Given the description of an element on the screen output the (x, y) to click on. 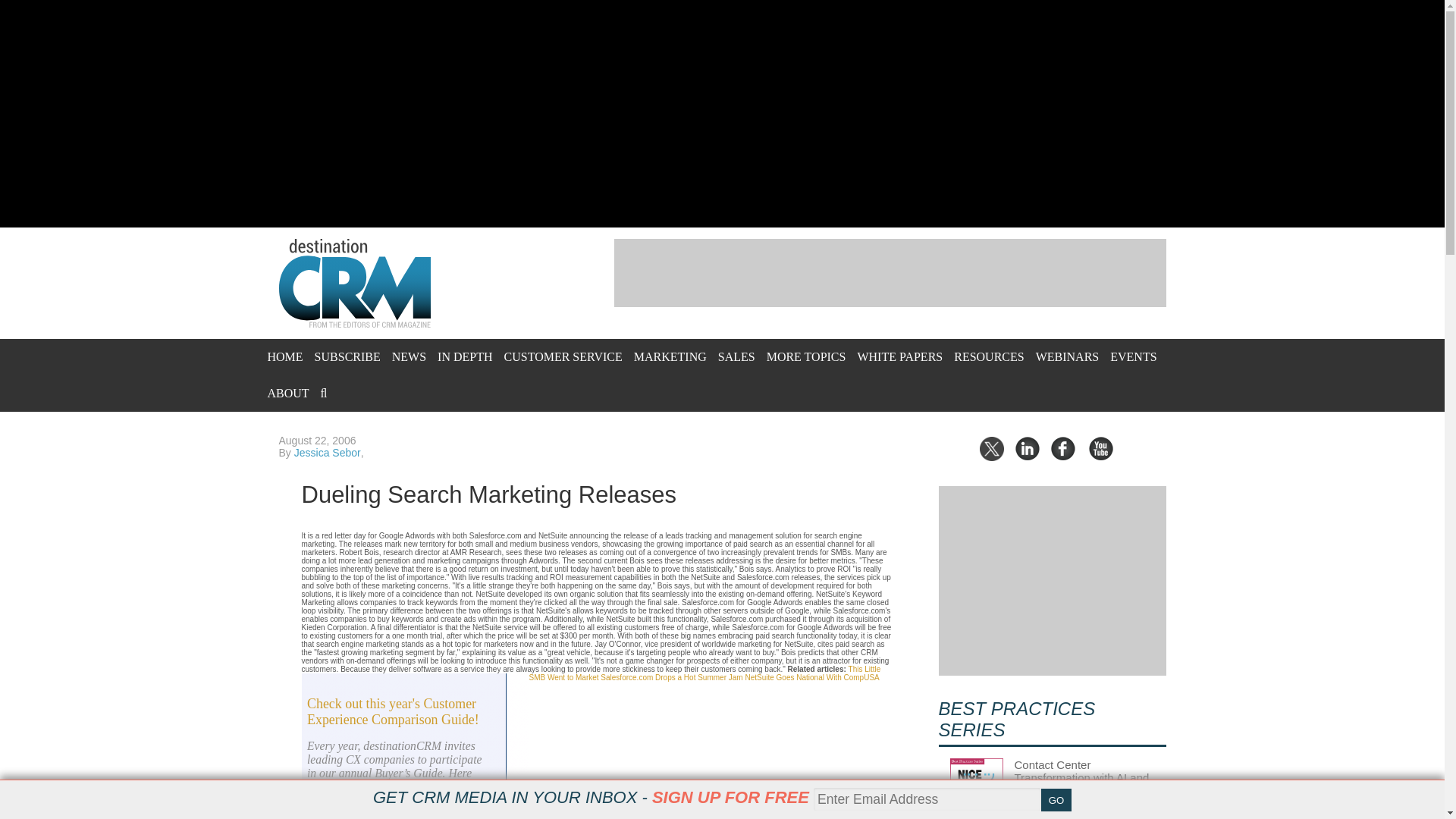
Marketing (669, 357)
MORE TOPICS (806, 357)
SUBSCRIBE (347, 357)
NEWS (408, 357)
CUSTOMER SERVICE (563, 357)
SALES (736, 357)
IN DEPTH (465, 357)
WHITE PAPERS (899, 357)
GET CRM MEDIA IN YOUR INBOX - SIGN UP FOR FREE (590, 797)
GO (1056, 799)
